Given the description of an element on the screen output the (x, y) to click on. 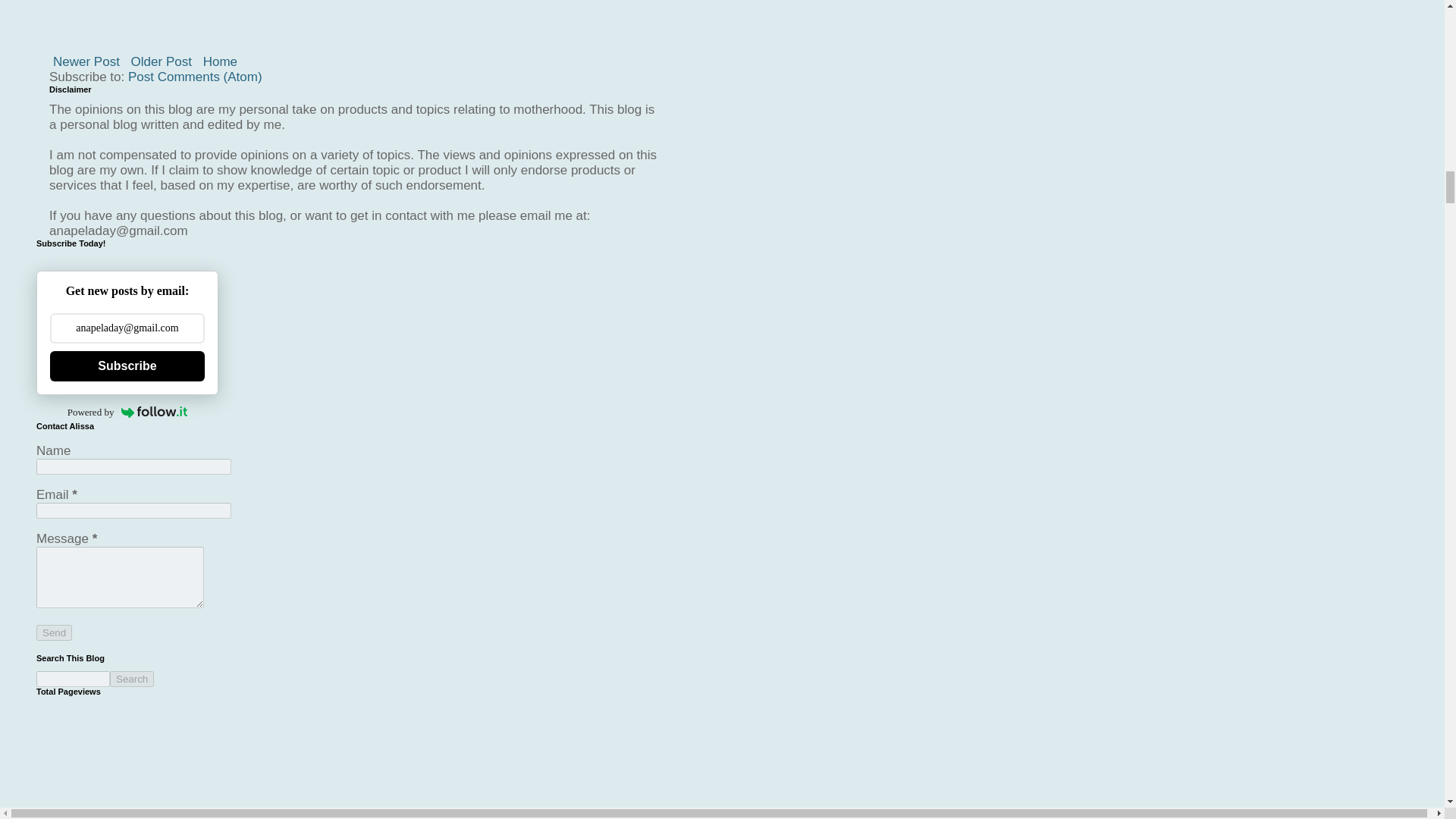
Search (132, 678)
Send (53, 632)
Search (132, 678)
